Given the description of an element on the screen output the (x, y) to click on. 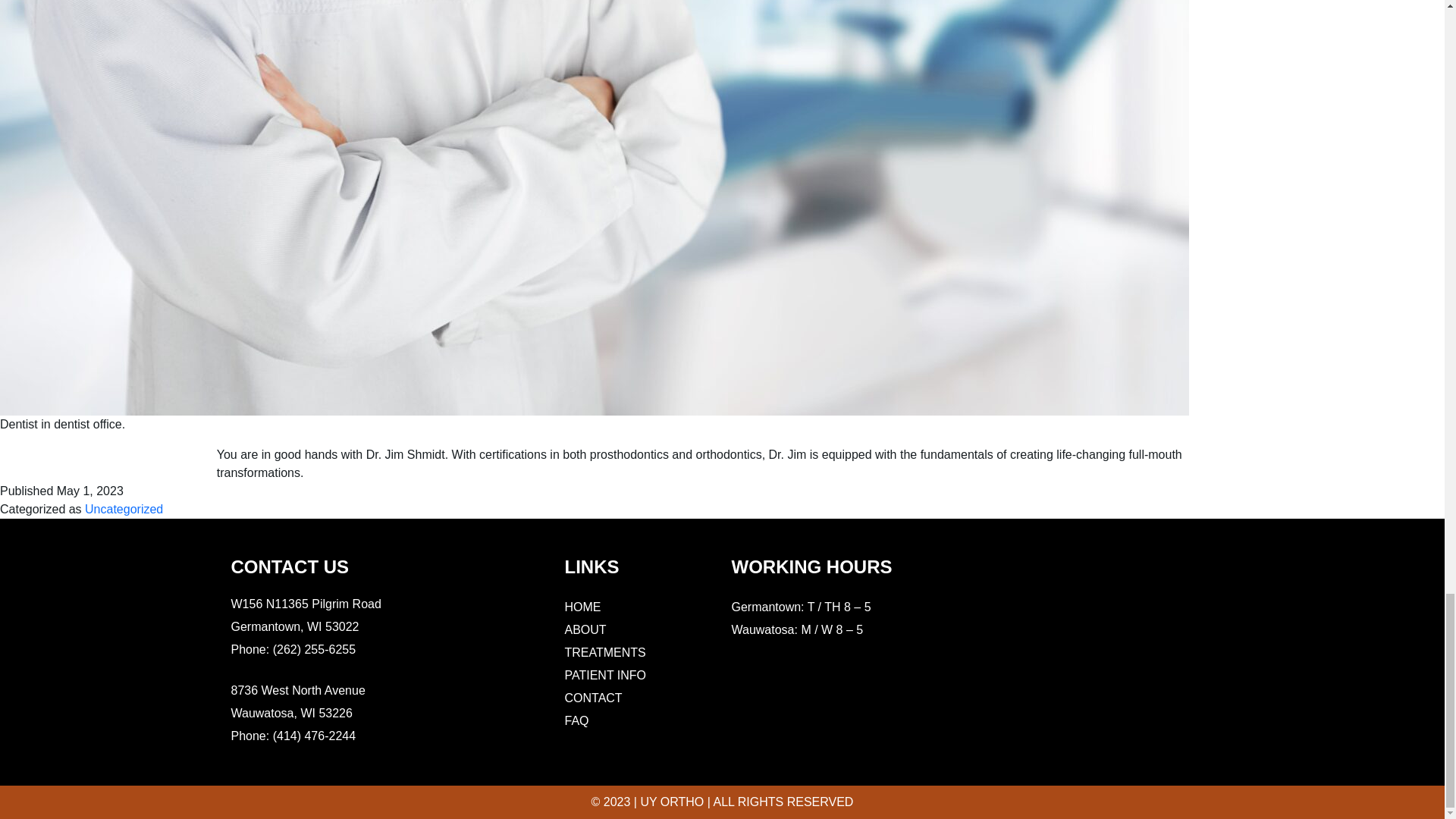
CONTACT (592, 698)
Uncategorized (123, 509)
HOME (581, 607)
ABOUT (584, 630)
PATIENT INFO (305, 615)
FAQ (605, 675)
TREATMENTS (576, 721)
